Given the description of an element on the screen output the (x, y) to click on. 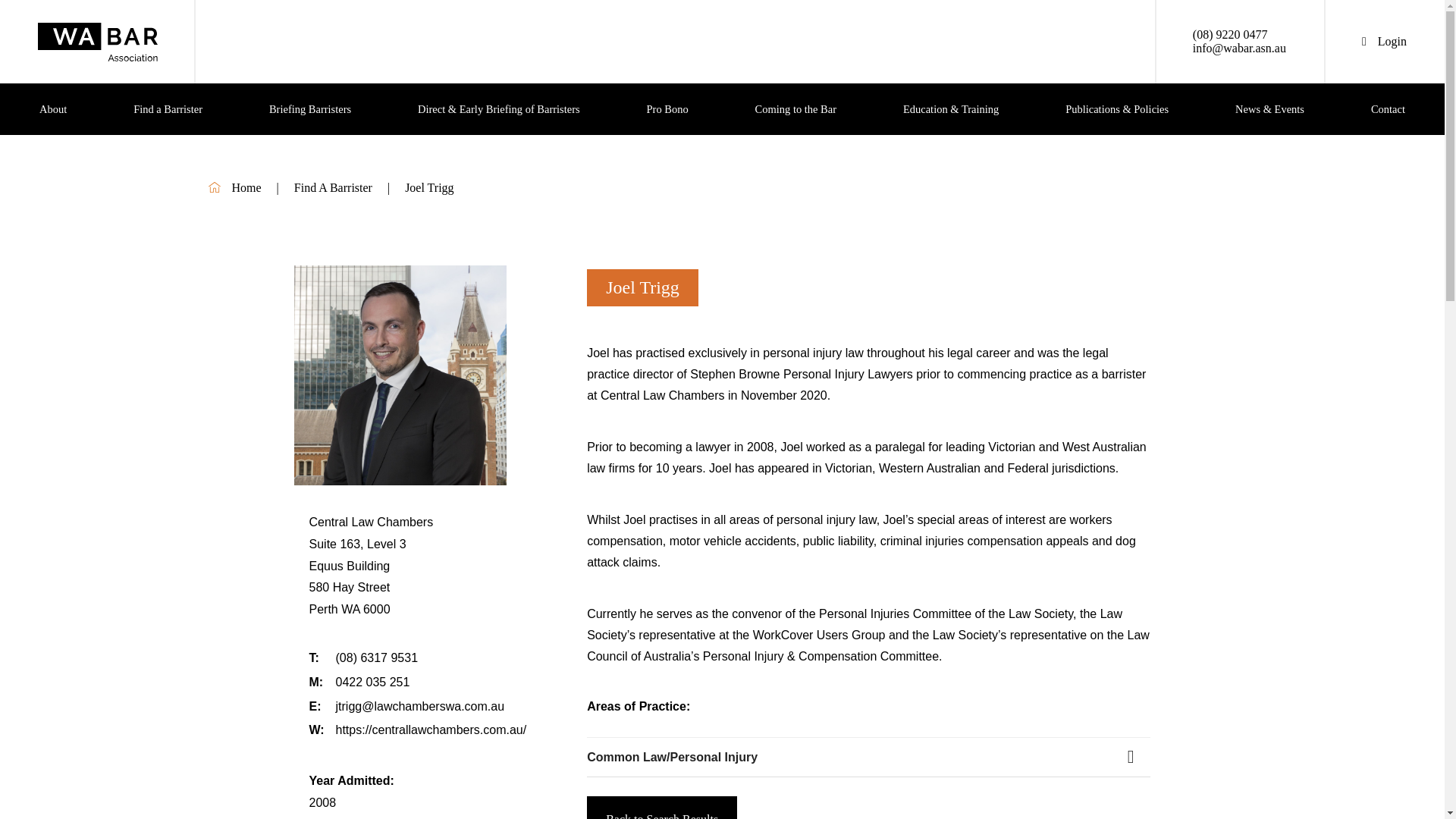
Coming to the Bar (795, 109)
Pro Bono (667, 109)
Find a Barrister (167, 109)
Login (1383, 41)
About (52, 109)
Briefing Barristers (309, 109)
